Given the description of an element on the screen output the (x, y) to click on. 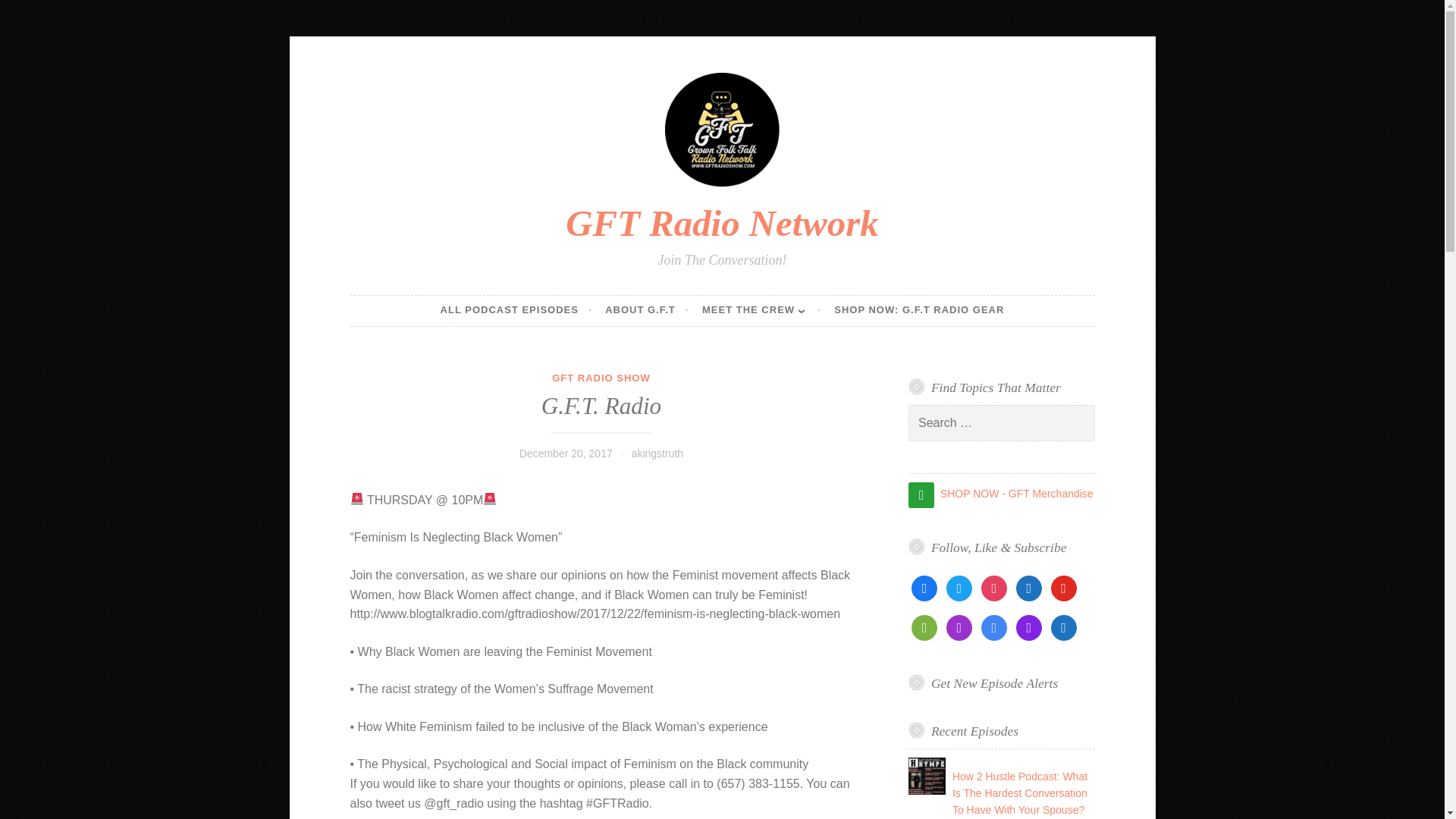
spotify (924, 626)
SHOP NOW: G.F.T RADIO GEAR (919, 310)
instagram (994, 587)
iheartradio (1064, 626)
apple-podcasts (959, 626)
Facebook (924, 587)
youtube (1064, 587)
facebook (924, 587)
akingstruth (656, 453)
stitcher (1029, 626)
MEET THE CREW (761, 310)
GFT Radio Network (721, 223)
Instagram (994, 587)
GFT RADIO SHOW (600, 378)
